Given the description of an element on the screen output the (x, y) to click on. 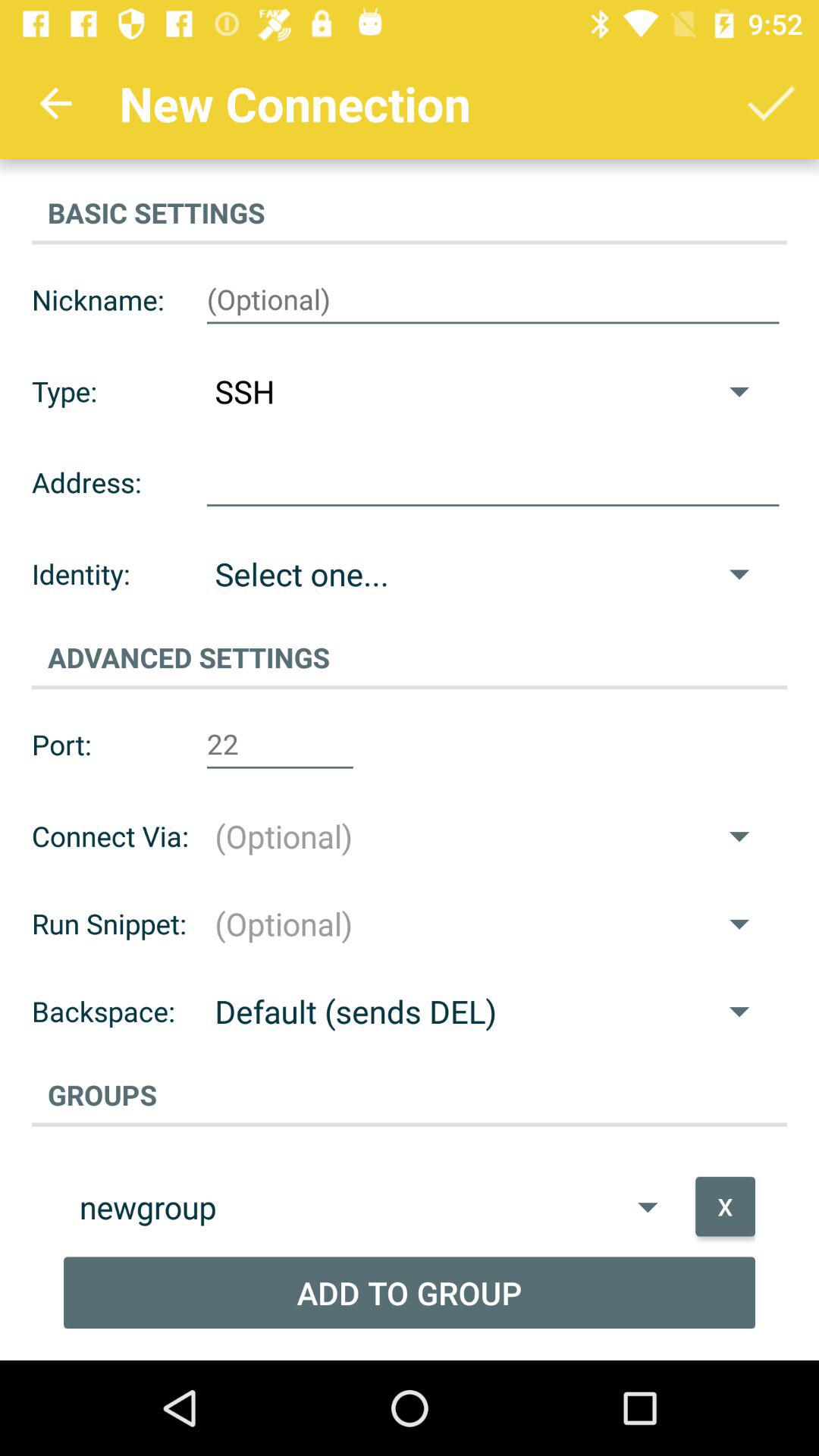
enter address text bar (493, 482)
